Given the description of an element on the screen output the (x, y) to click on. 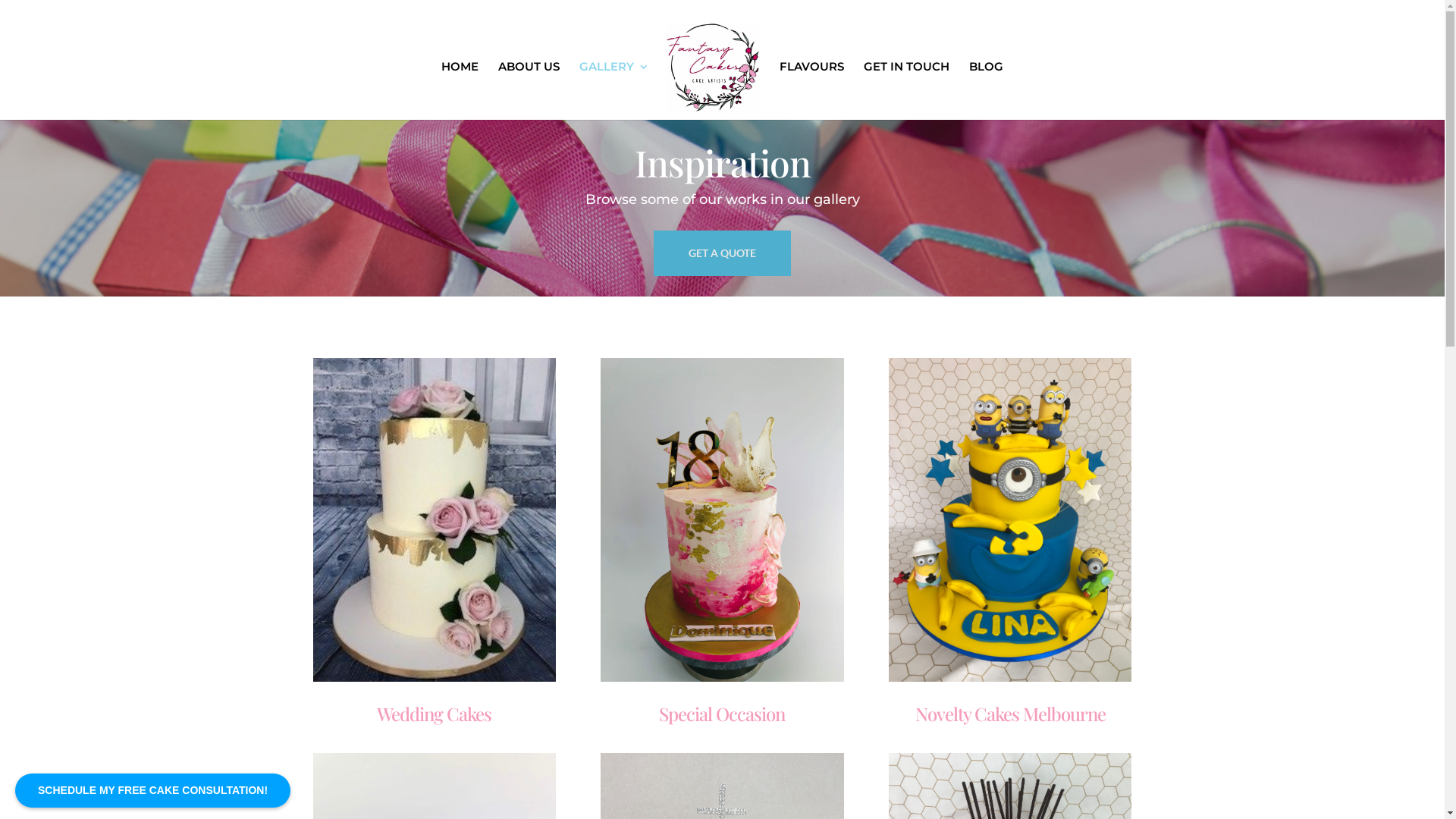
ABOUT US Element type: text (528, 90)
img_4812.jpg Element type: hover (721, 519)
GET IN TOUCH Element type: text (906, 90)
GALLERY Element type: text (614, 90)
Minions Birthday Cake Element type: hover (1009, 519)
GET A QUOTE Element type: text (721, 253)
HOME Element type: text (459, 90)
FLAVOURS Element type: text (811, 90)
2 tier Element type: hover (433, 519)
BLOG Element type: text (986, 90)
